Given the description of an element on the screen output the (x, y) to click on. 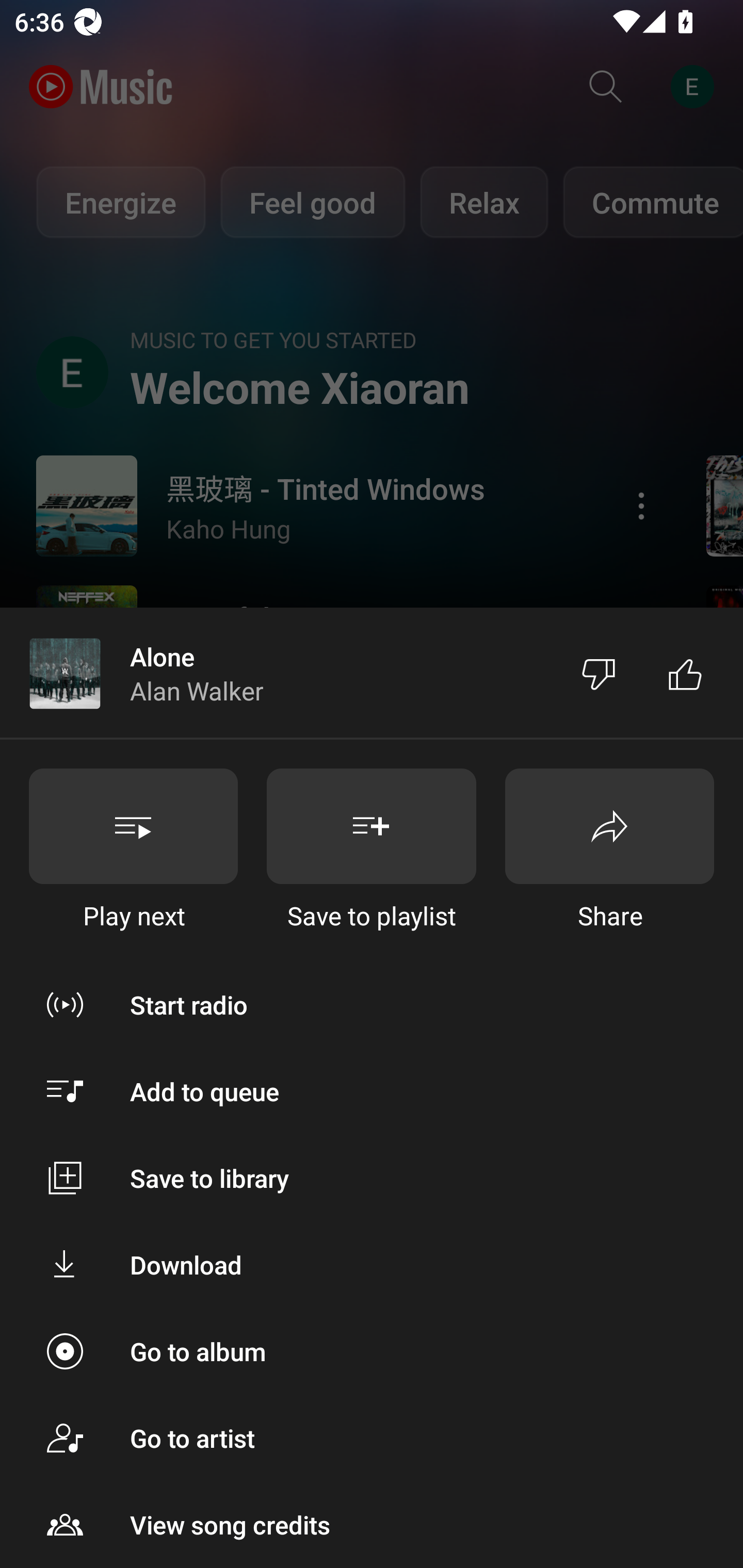
Dislike (598, 673)
Like (684, 673)
Start radio (371, 1004)
Add to queue (371, 1091)
Save to library (371, 1178)
Download (371, 1264)
Go to album (371, 1350)
Go to artist (371, 1437)
View song credits (371, 1524)
